Given the description of an element on the screen output the (x, y) to click on. 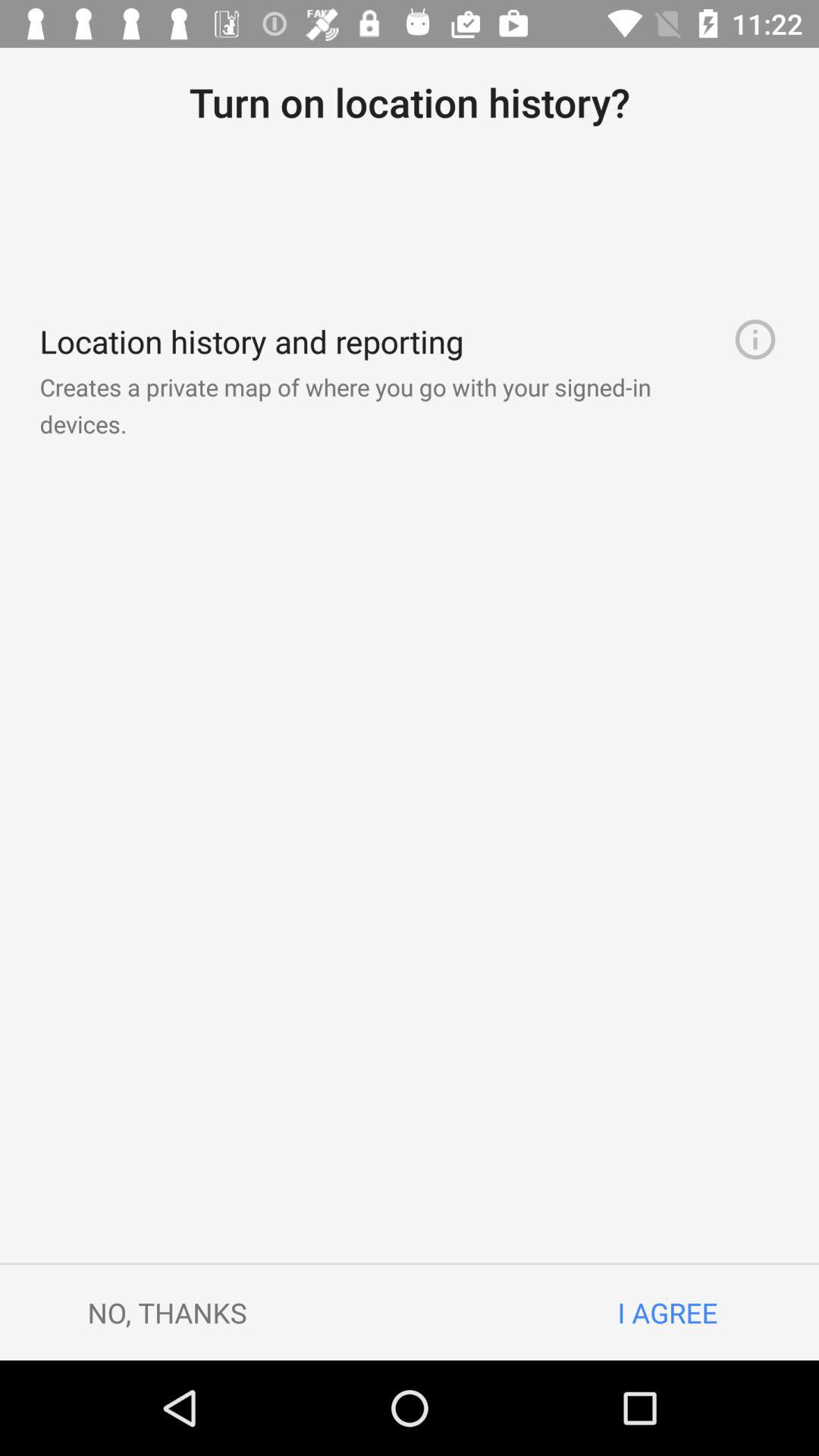
open item to the right of the no, thanks item (667, 1312)
